Given the description of an element on the screen output the (x, y) to click on. 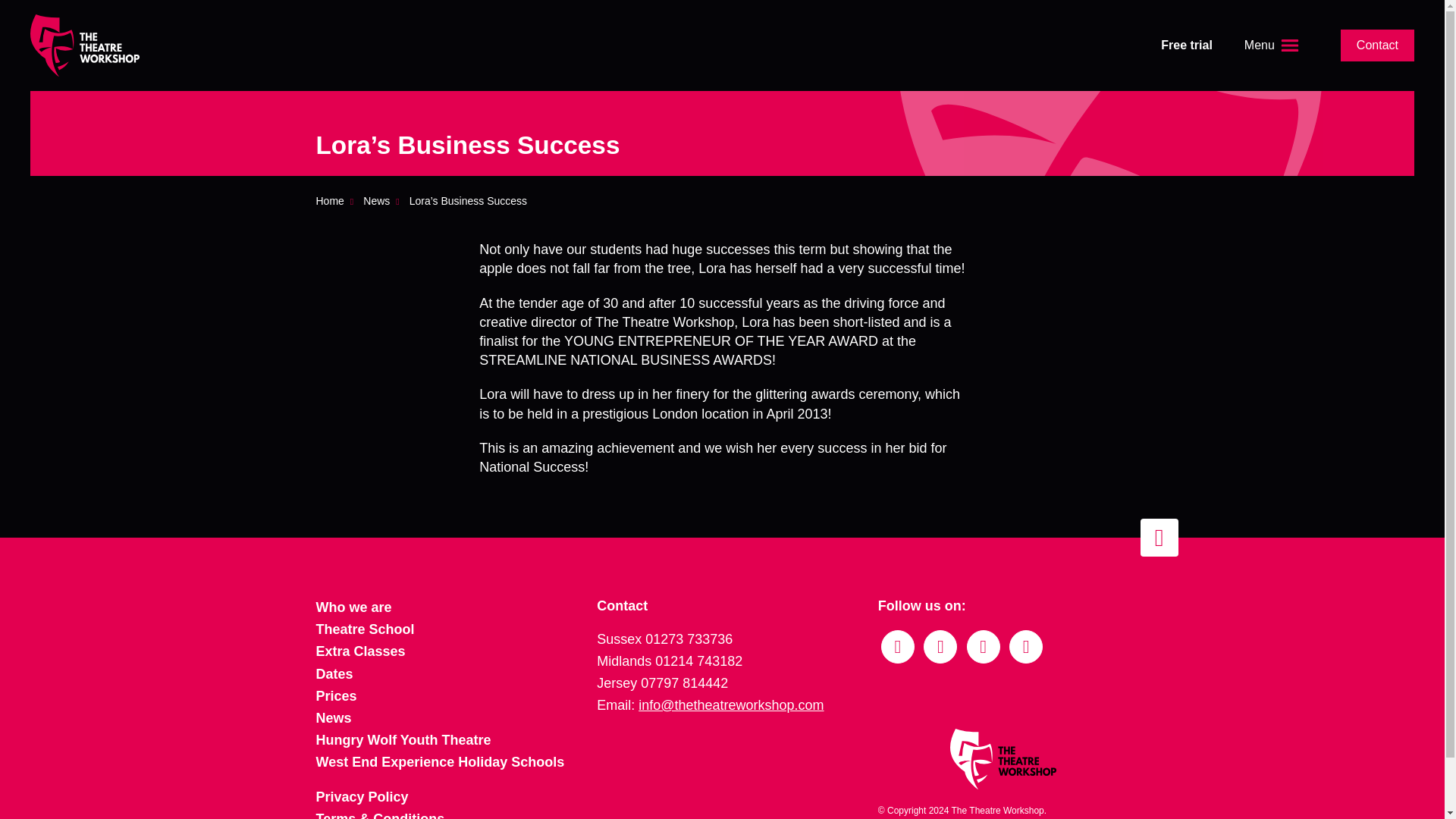
Privacy Policy (361, 796)
Prices (335, 695)
Back to top (1158, 537)
West End Experience Holiday Schools (439, 761)
Extra Classes (359, 651)
Who we are (353, 607)
Home (334, 200)
Hungry Wolf Youth Theatre (402, 739)
Contact (1376, 44)
Free trial (1187, 45)
